Given the description of an element on the screen output the (x, y) to click on. 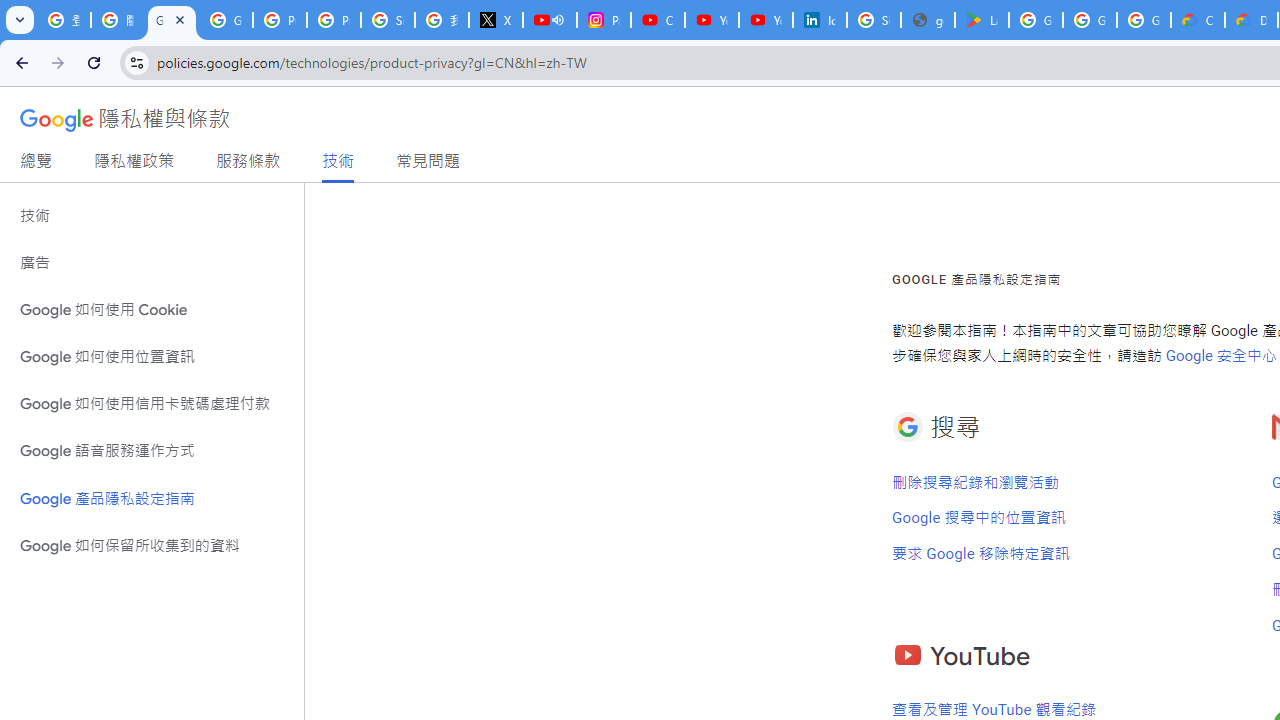
Sign in - Google Accounts (874, 20)
X (495, 20)
